Given the description of an element on the screen output the (x, y) to click on. 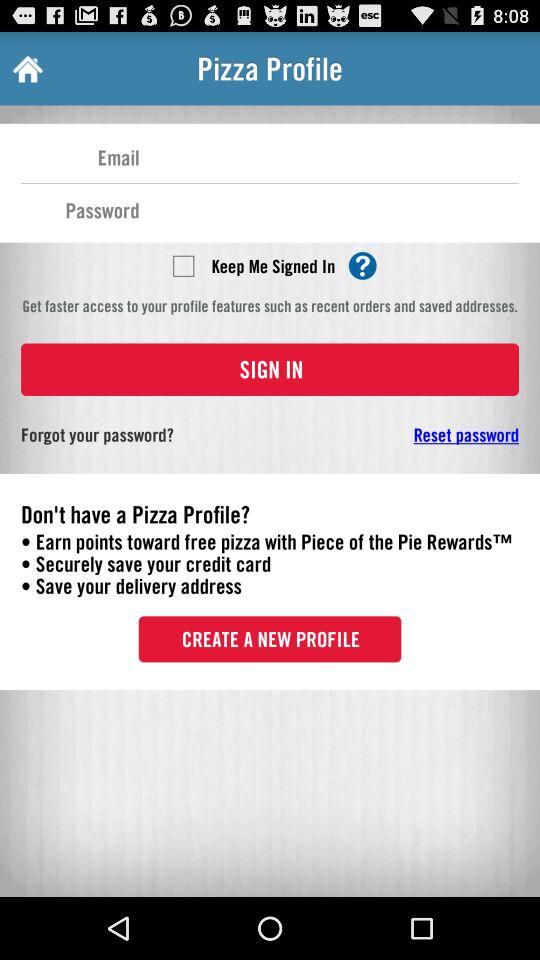
open item to the left of pizza profile item (26, 68)
